Given the description of an element on the screen output the (x, y) to click on. 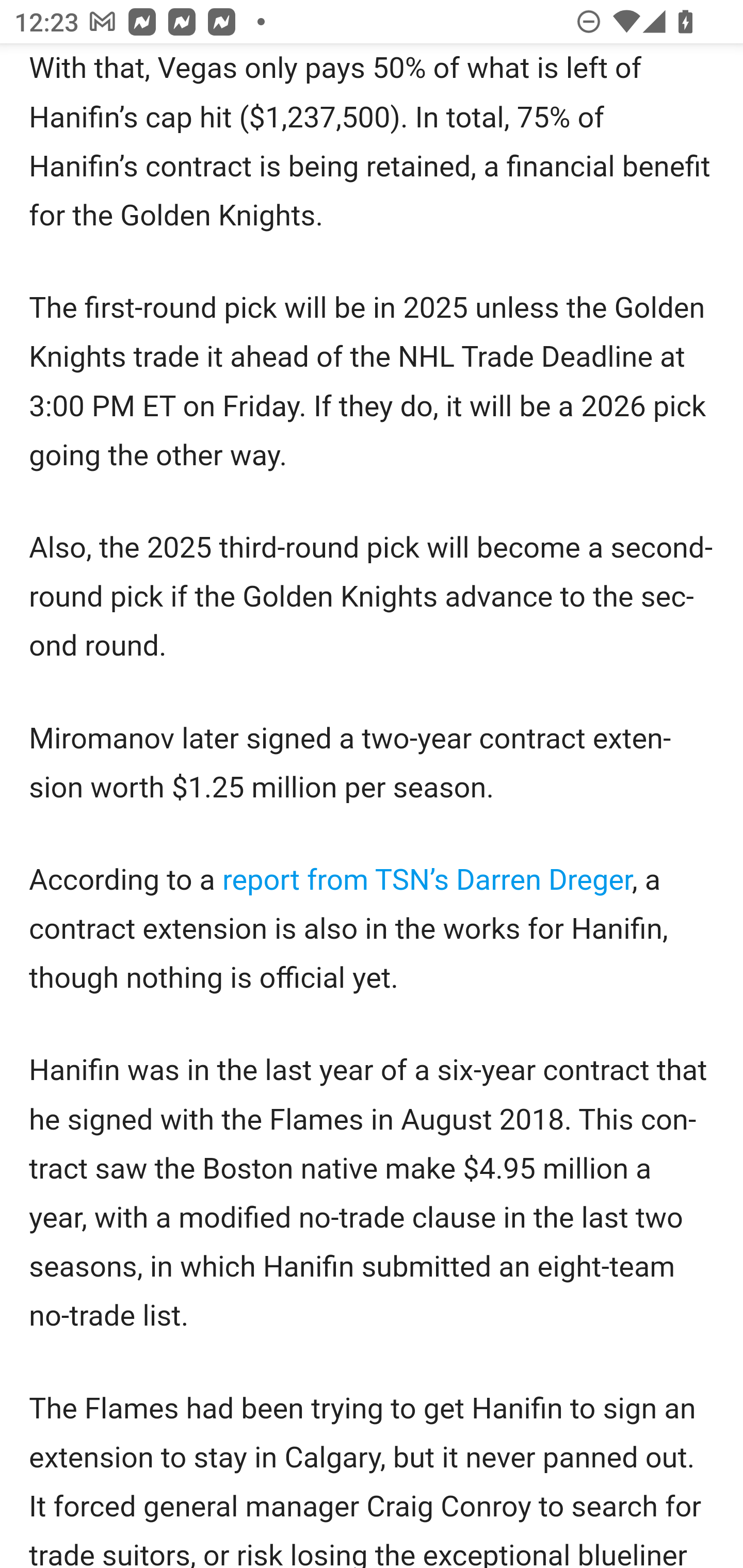
report from TSN’s Darren Dreger (426, 880)
